Given the description of an element on the screen output the (x, y) to click on. 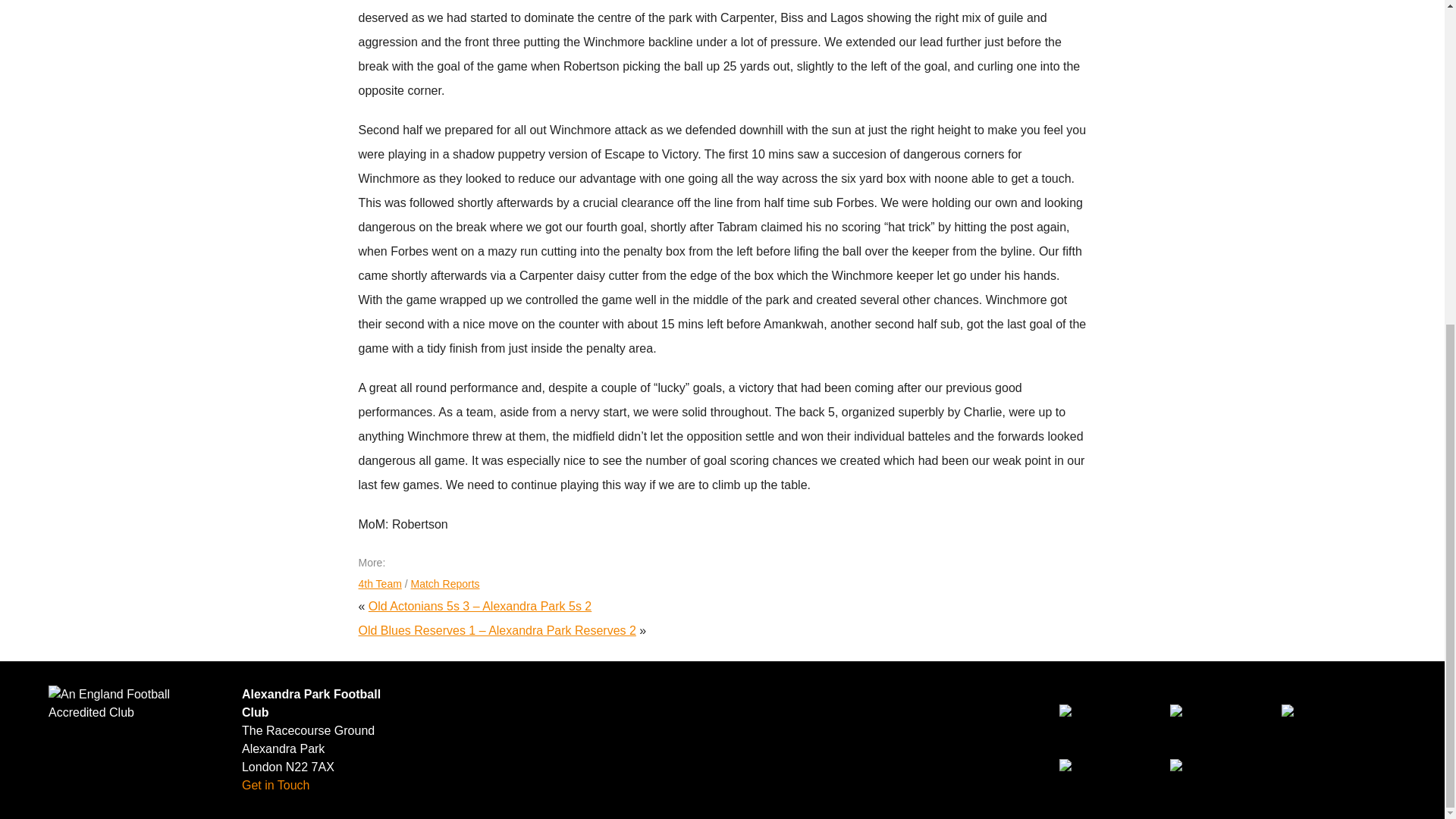
An England Football Accredited Club (136, 703)
4th Team (379, 583)
Get in Touch (275, 784)
Match Reports (445, 583)
